Given the description of an element on the screen output the (x, y) to click on. 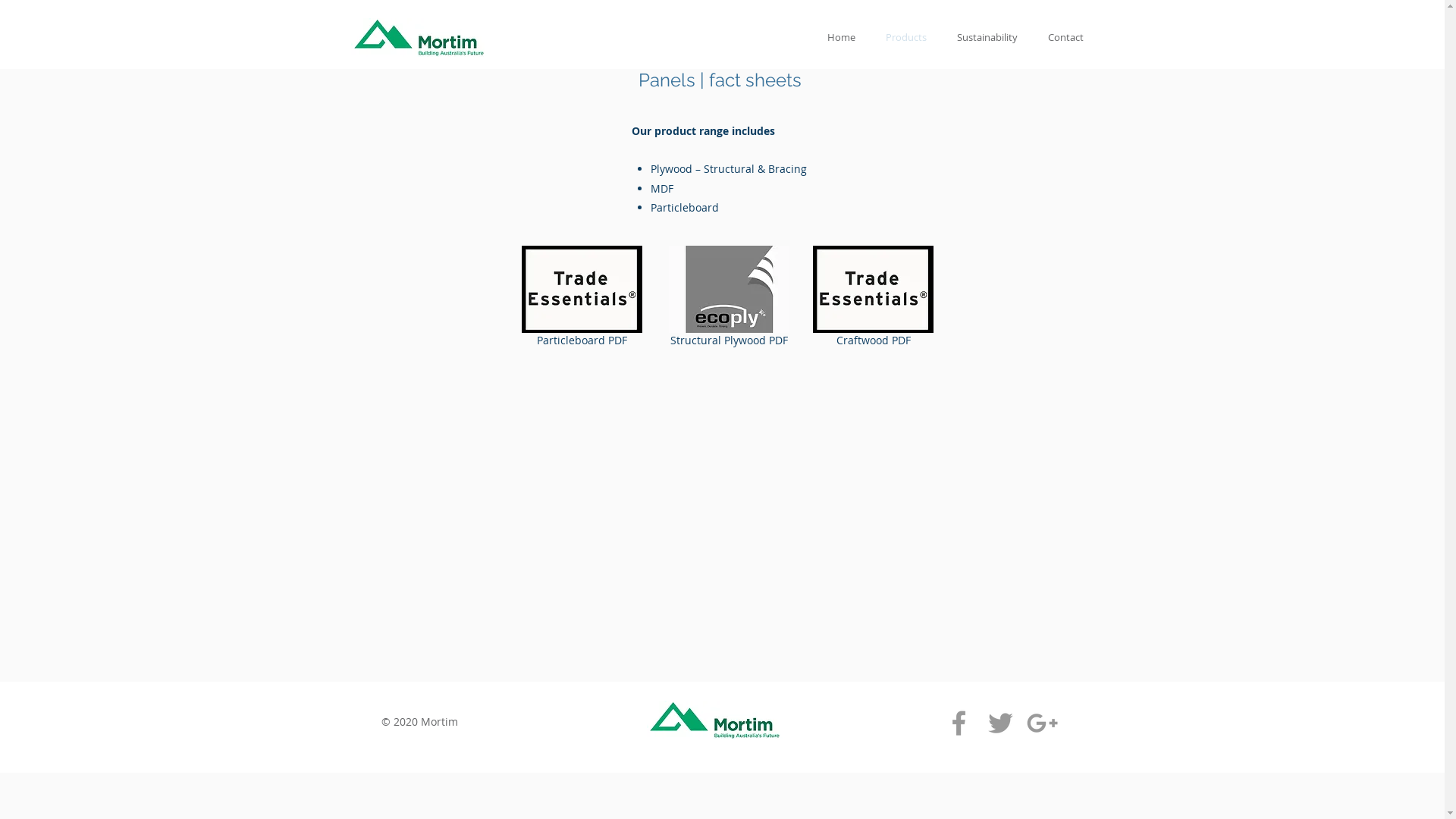
Craftwood PDF Element type: text (872, 298)
Contact Element type: text (1065, 37)
Sustainability Element type: text (986, 37)
Home Element type: text (840, 37)
Particleboard PDF Element type: text (580, 298)
Products Element type: text (905, 37)
Structural Plywood PDF Element type: text (728, 298)
